Given the description of an element on the screen output the (x, y) to click on. 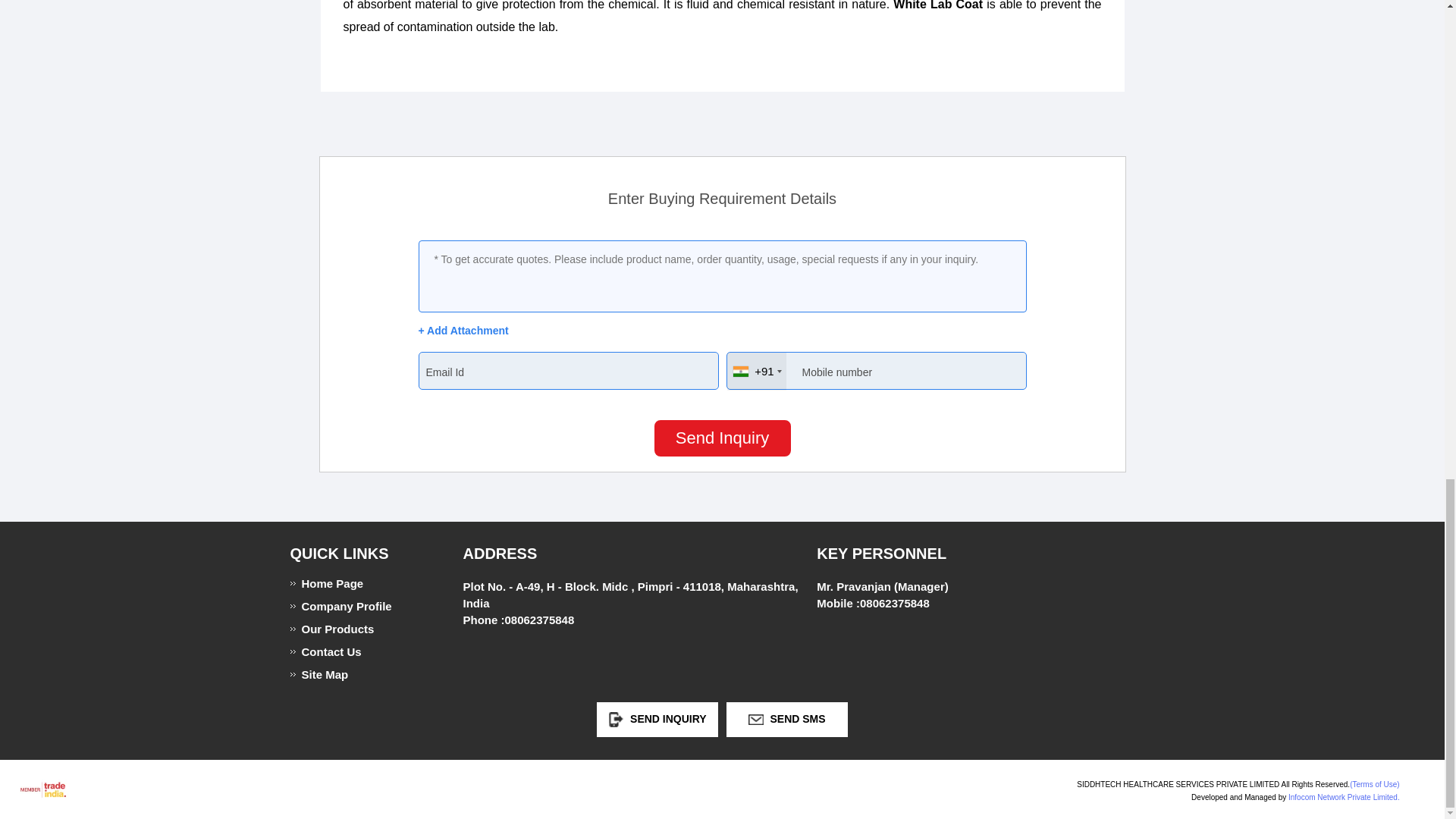
Company Profile (354, 605)
Home Page (354, 583)
Send SMS (755, 719)
Send Inquiry (721, 438)
Send Inquiry (615, 719)
